Given the description of an element on the screen output the (x, y) to click on. 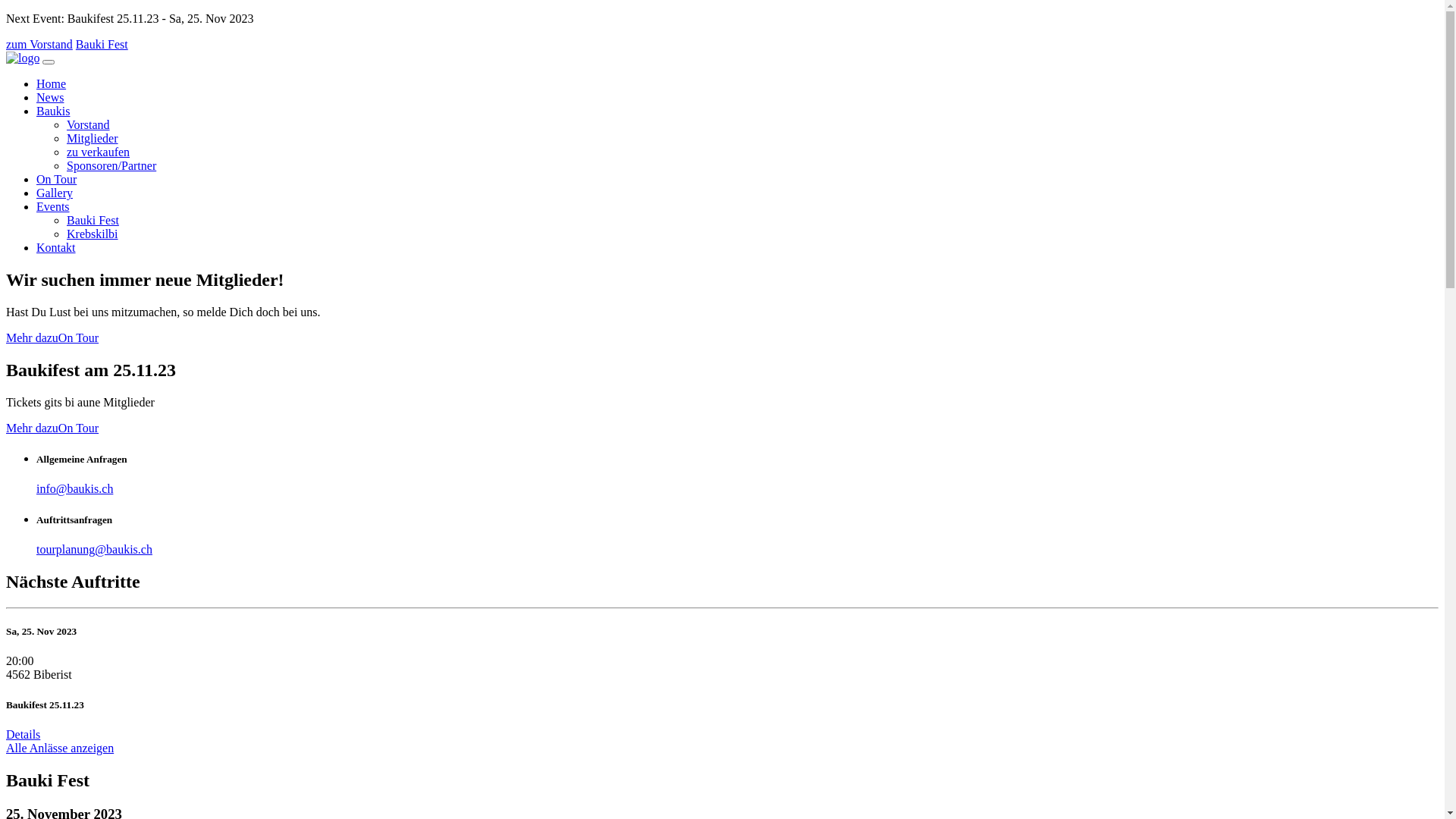
Details Element type: text (23, 734)
Bauki Fest Element type: text (92, 219)
On Tour Element type: text (78, 337)
Gallery Element type: text (54, 192)
Sponsoren/Partner Element type: text (111, 165)
Events Element type: text (52, 206)
Bauki Fest Element type: text (101, 43)
Kontakt Element type: text (55, 247)
tourplanung@baukis.ch Element type: text (94, 548)
Mehr dazu Element type: text (32, 337)
Home Element type: text (50, 83)
Mehr dazu Element type: text (32, 427)
zu verkaufen Element type: text (97, 151)
info@baukis.ch Element type: text (74, 488)
Baukis Element type: text (52, 110)
Mitglieder Element type: text (92, 137)
On Tour Element type: text (78, 427)
News Element type: text (49, 97)
On Tour Element type: text (56, 178)
Vorstand Element type: text (87, 124)
Krebskilbi Element type: text (92, 233)
zum Vorstand Element type: text (39, 43)
